Given the description of an element on the screen output the (x, y) to click on. 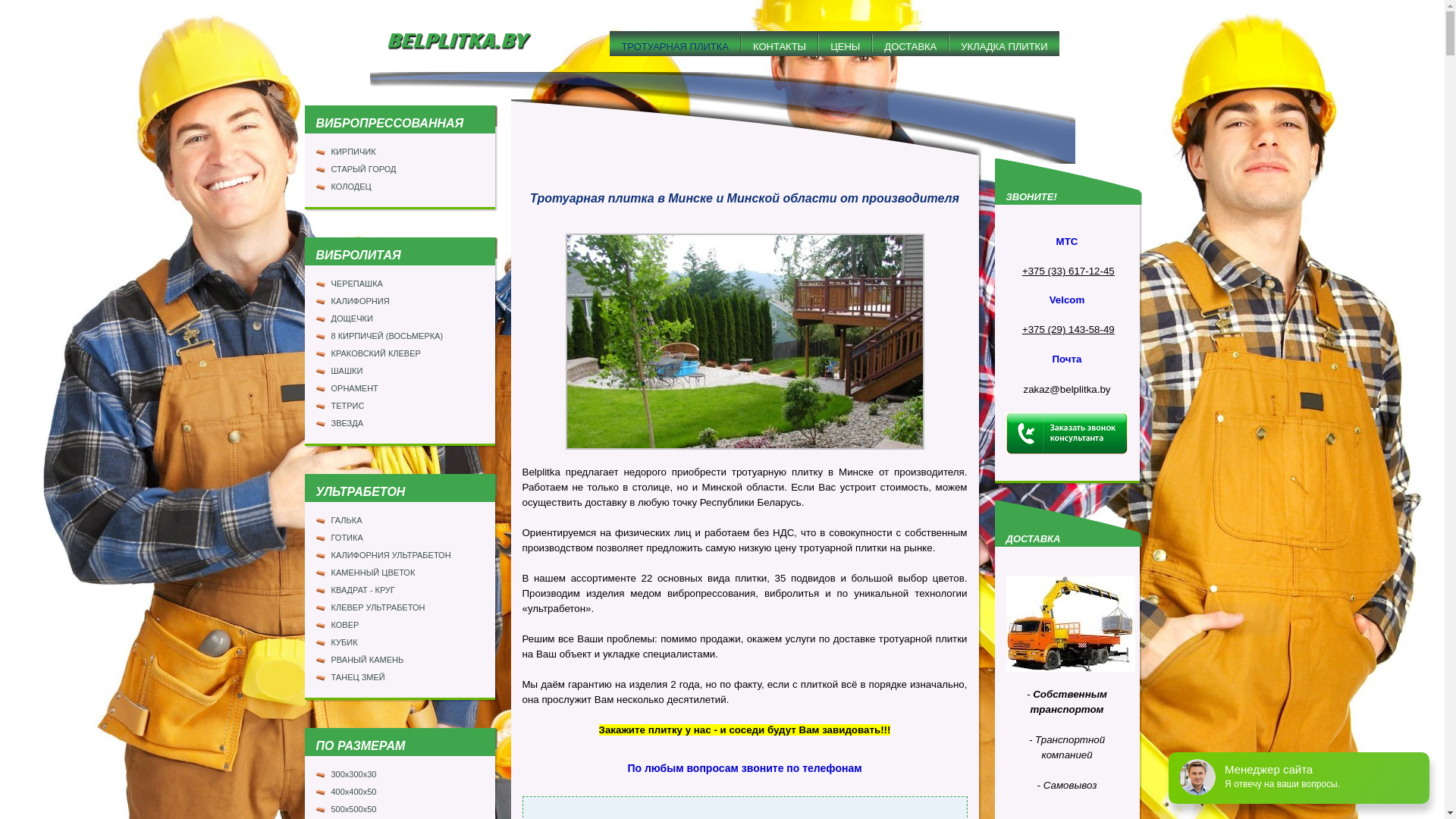
+375 (29) 143-58-49 Element type: text (1068, 329)
+375 (33) 617-12-45 Element type: text (1068, 270)
